Given the description of an element on the screen output the (x, y) to click on. 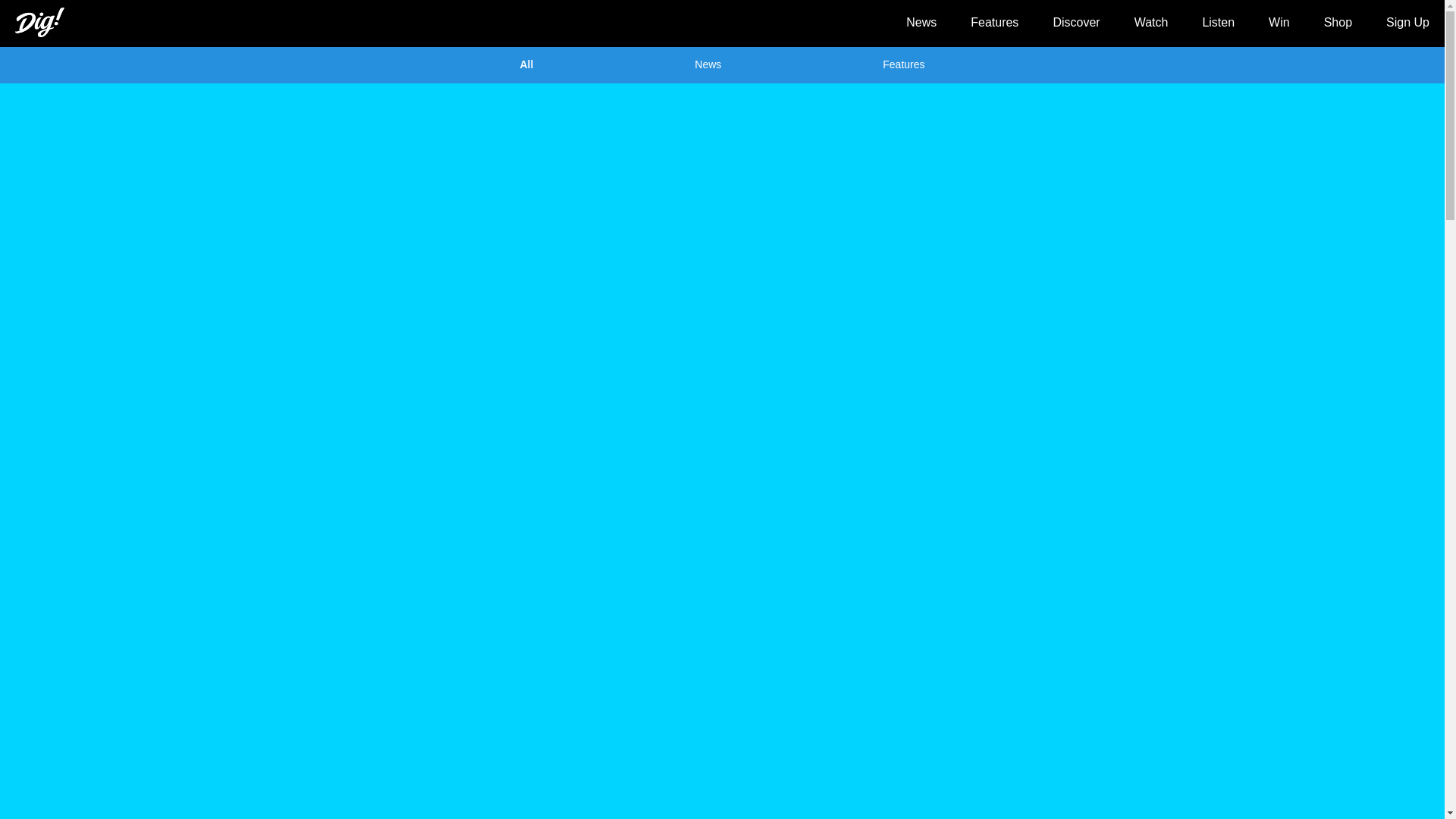
All (525, 64)
News (920, 21)
Watch (1151, 21)
Discover (1075, 21)
Features (994, 21)
Sign Up (1407, 21)
Shop (1337, 21)
Features (903, 64)
News (707, 64)
Win (1279, 21)
